Given the description of an element on the screen output the (x, y) to click on. 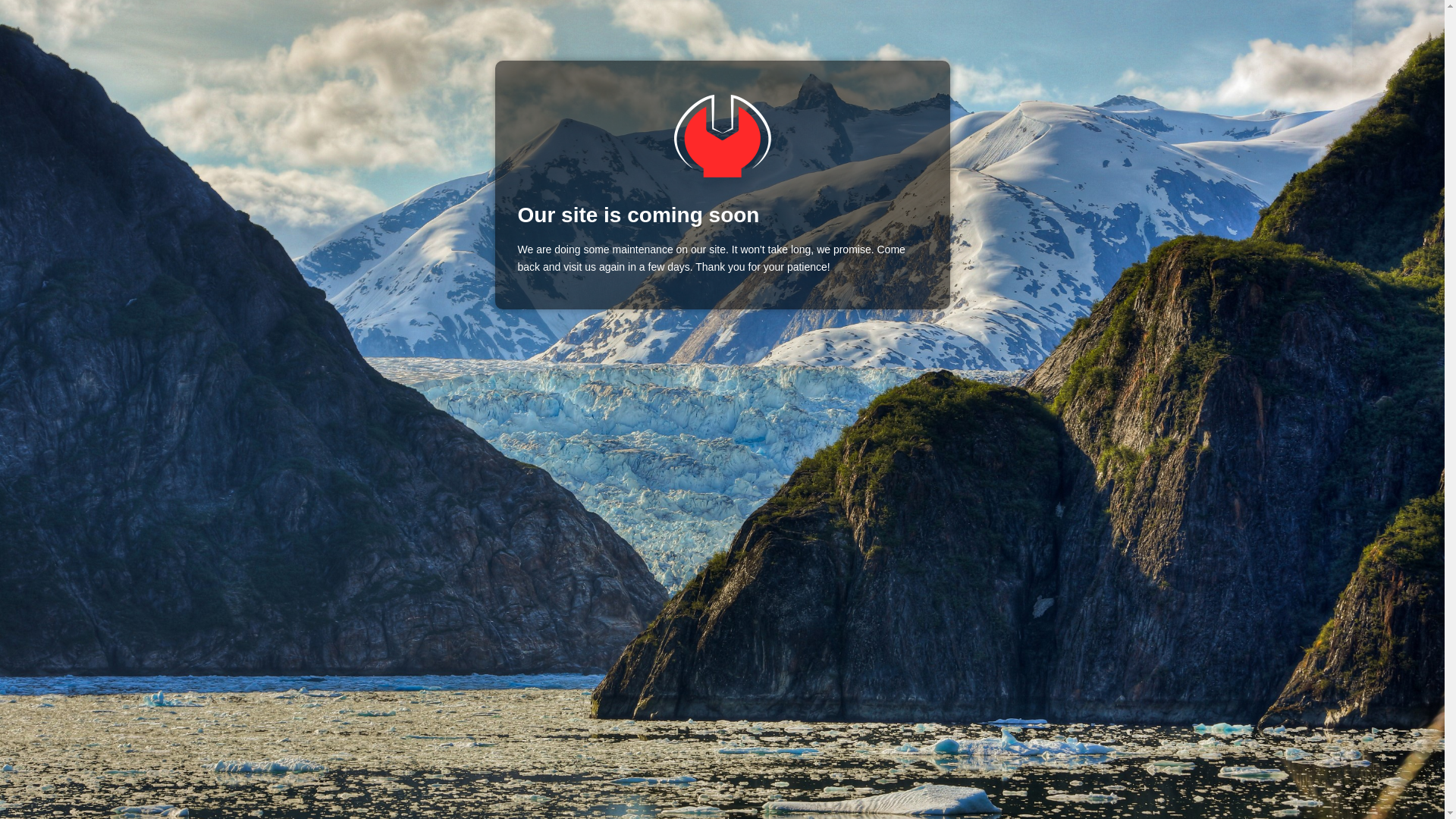
Long Lasting Private Wealth Element type: hover (721, 135)
